Given the description of an element on the screen output the (x, y) to click on. 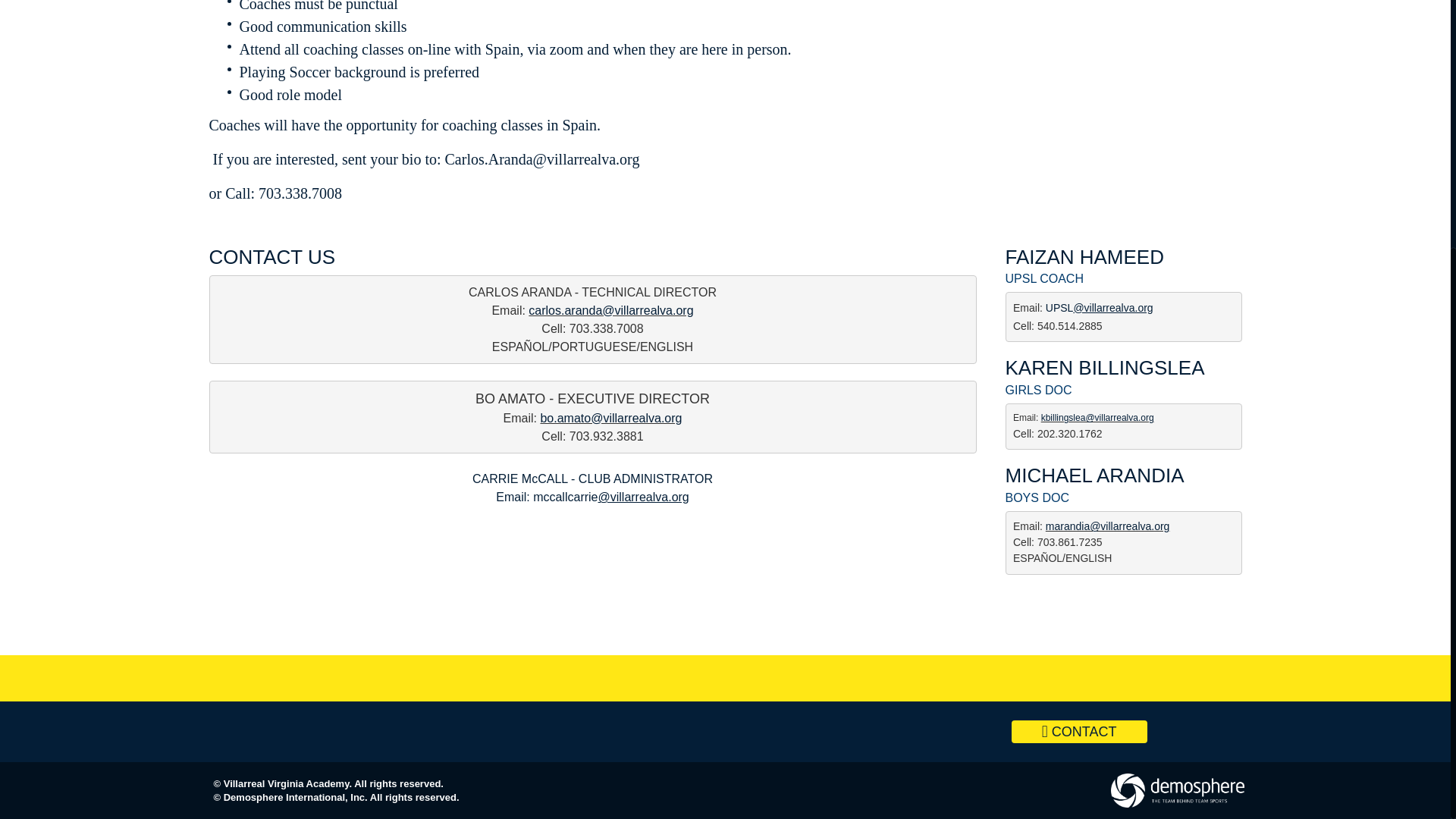
CONTACT (1079, 731)
FAIZAN HAMEED (1084, 256)
MICHAEL ARANDIA (1095, 475)
KAREN BILLINGSLEA (1105, 367)
mccallcarrie (564, 496)
Demosphere International, Inc. (296, 797)
UPSL (1059, 307)
CONTACT US (272, 256)
